Given the description of an element on the screen output the (x, y) to click on. 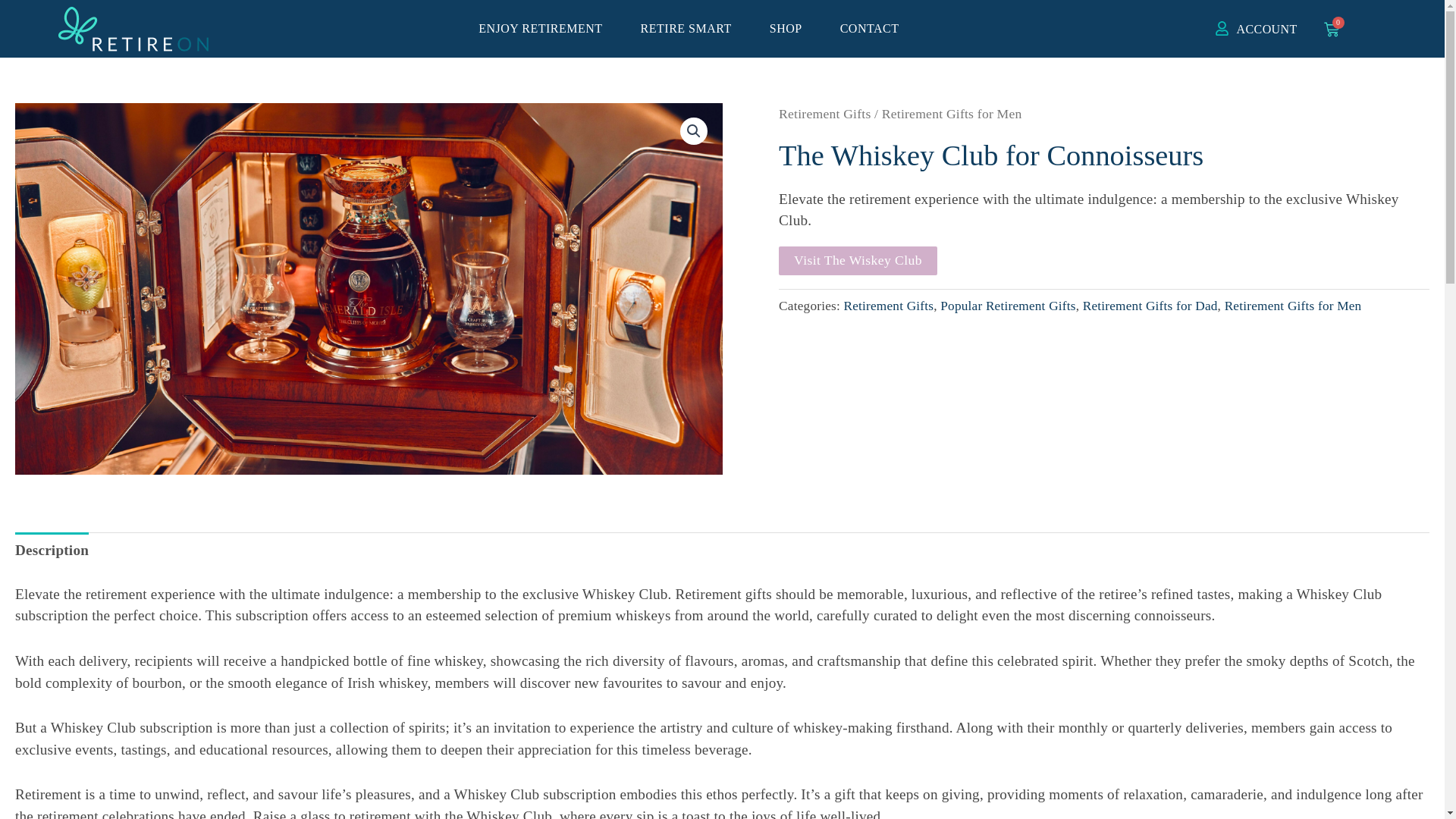
CONTACT (869, 28)
RETIRE SMART (689, 28)
ENJOY RETIREMENT (544, 28)
